Given the description of an element on the screen output the (x, y) to click on. 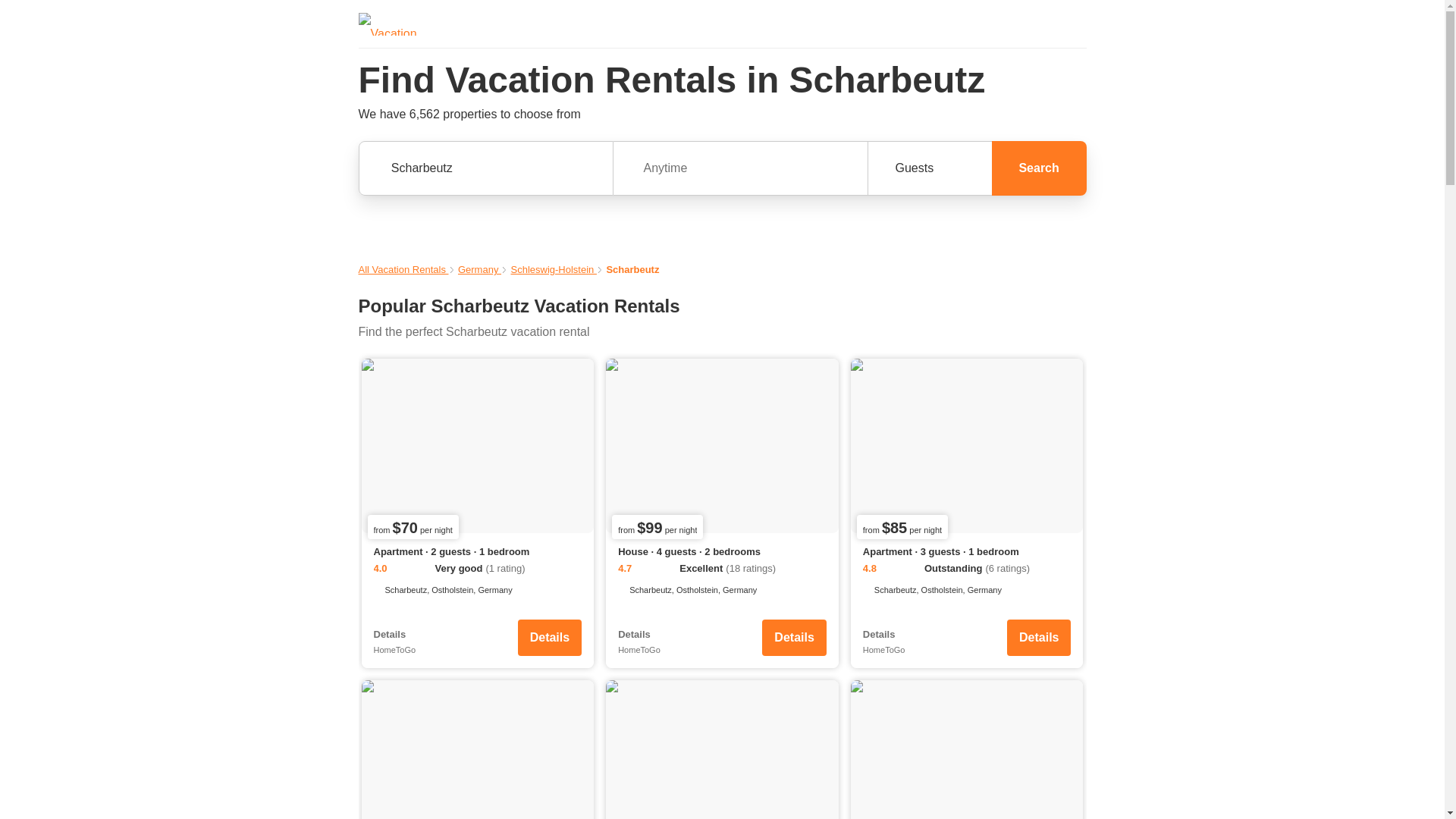
Germany (479, 269)
All Vacation Rentals (403, 269)
Search (1038, 167)
All Vacation Rentals (403, 269)
Schleswig-Holstein (553, 269)
Germany (479, 269)
Schleswig-Holstein (553, 269)
